Given the description of an element on the screen output the (x, y) to click on. 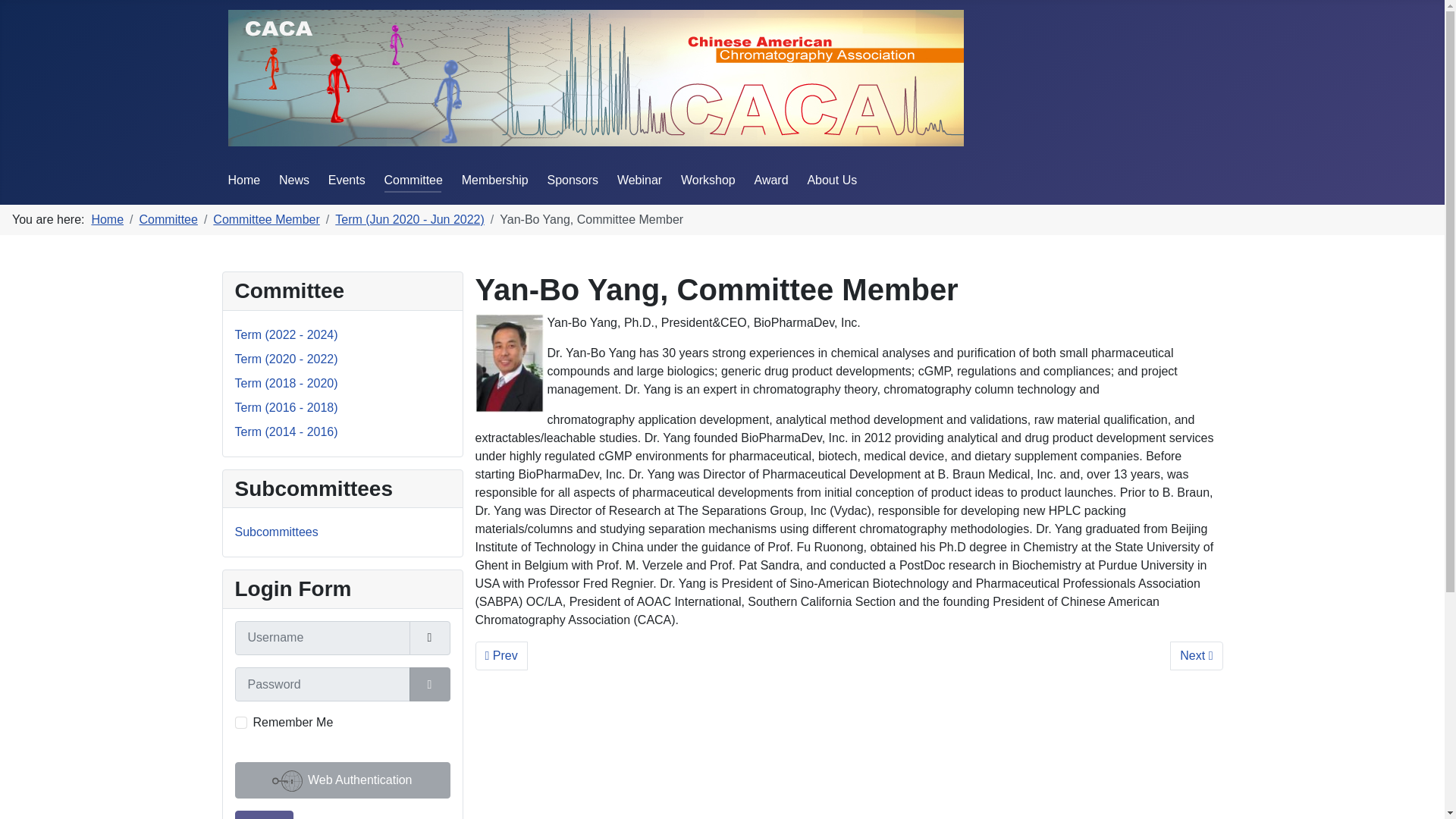
News (293, 179)
Workshop (708, 179)
Committee Member (265, 219)
Sponsors (572, 179)
Home (106, 219)
Home (1196, 655)
Web Authentication (243, 179)
Membership (341, 780)
Subcommittees (494, 179)
Committee (276, 531)
About Us (413, 179)
yes (831, 179)
Log in (240, 722)
Show Password (264, 814)
